Given the description of an element on the screen output the (x, y) to click on. 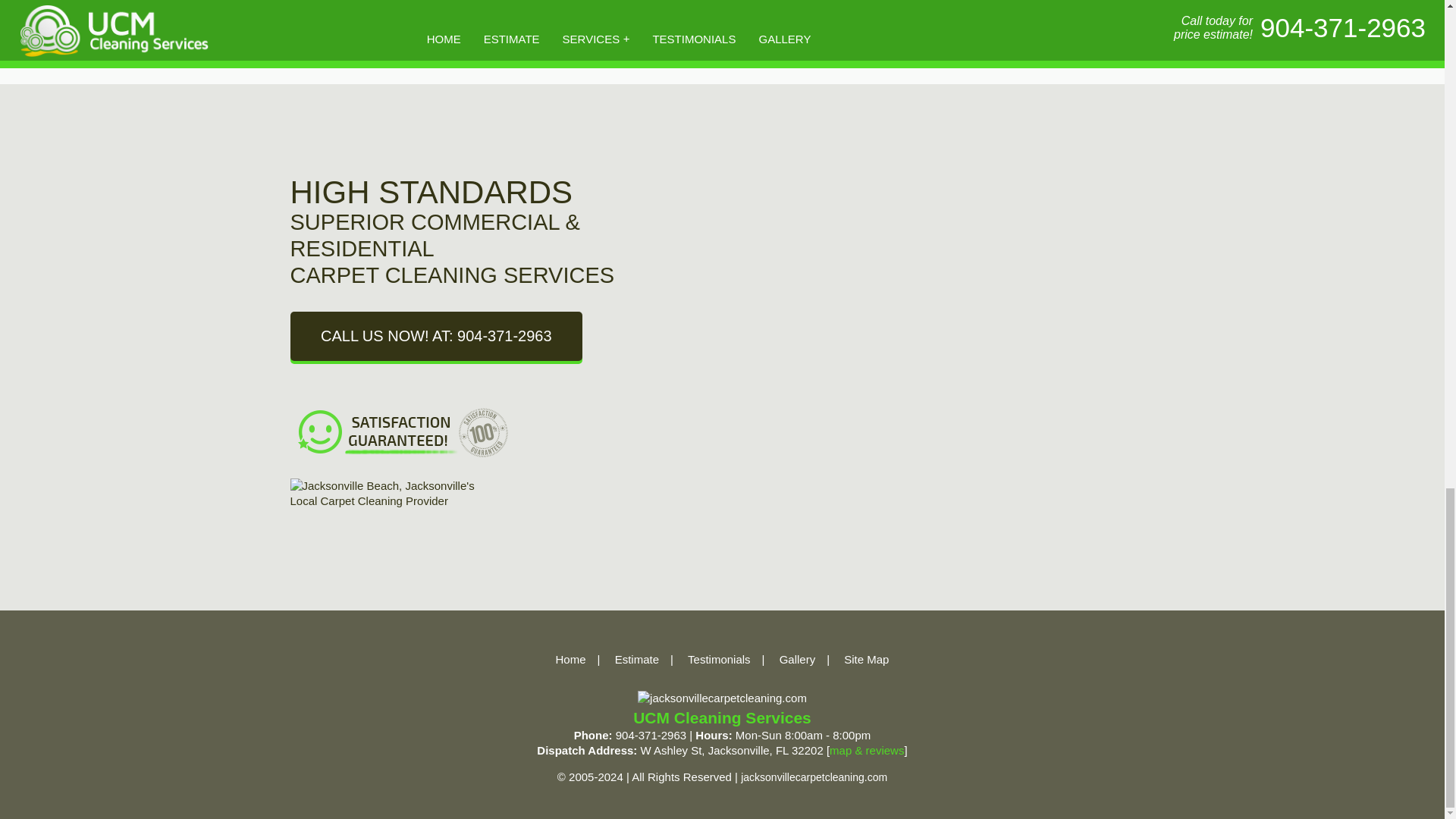
CALL US NOW! AT: 904-371-2963 (434, 336)
Satisfaction Guaranteed! (402, 432)
Home (571, 659)
jacksonvillecarpetcleaning.com (721, 698)
Gallery (796, 659)
Testimonials (719, 659)
Site Map (866, 659)
Estimate (636, 659)
